Given the description of an element on the screen output the (x, y) to click on. 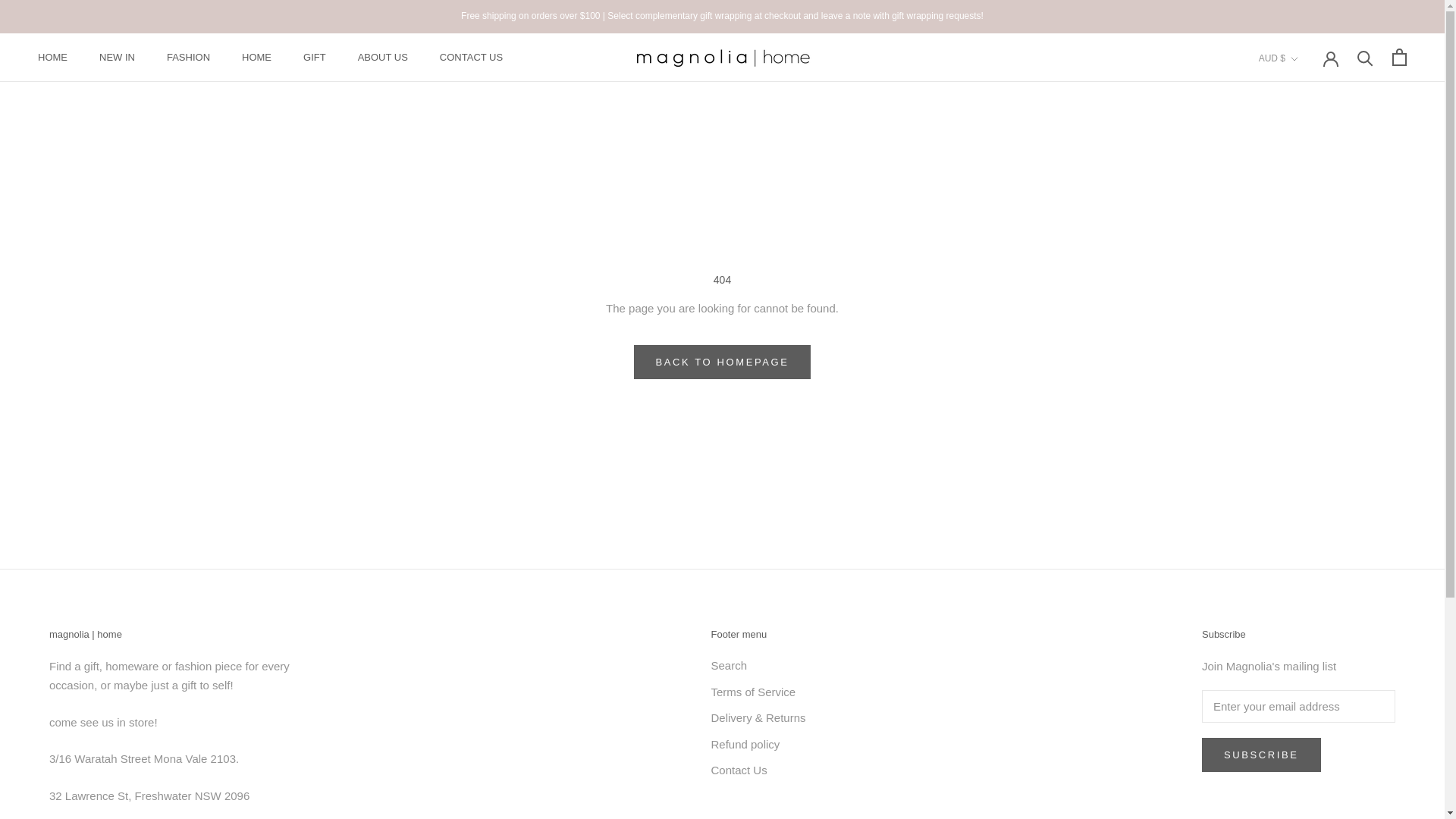
FASHION (188, 57)
NEW IN (51, 57)
